Given the description of an element on the screen output the (x, y) to click on. 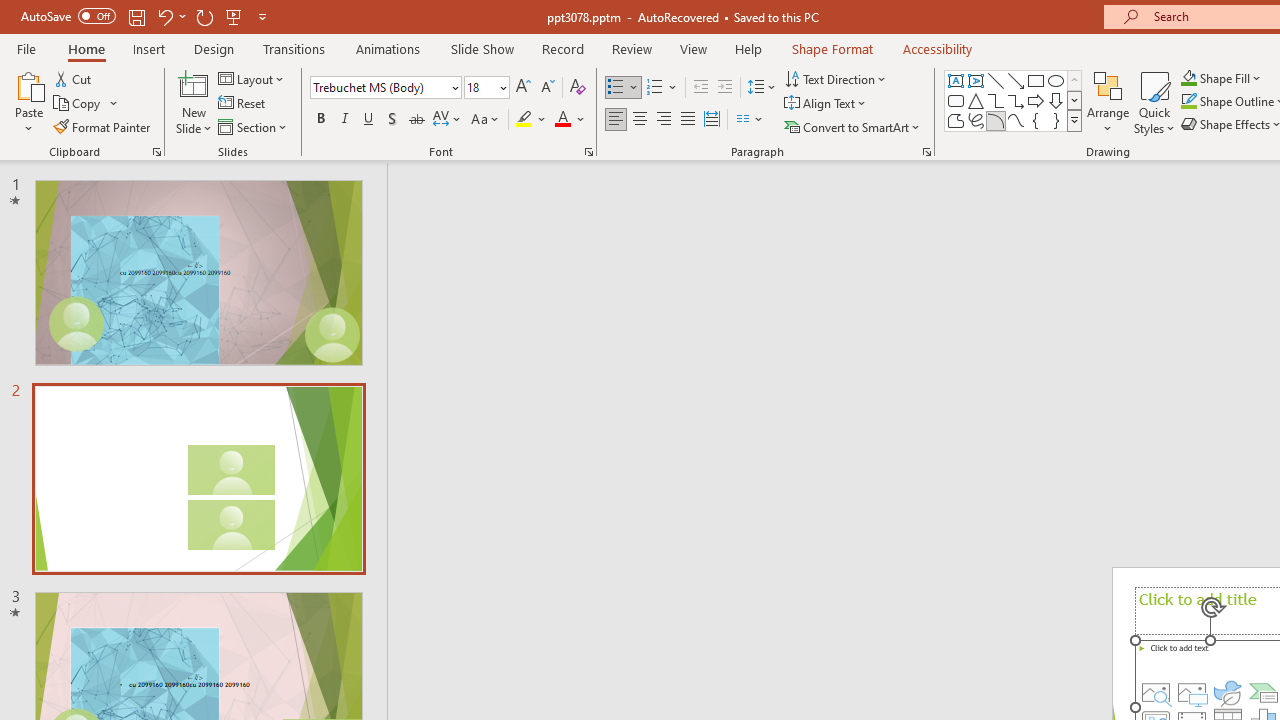
Stock Images (1156, 692)
